Given the description of an element on the screen output the (x, y) to click on. 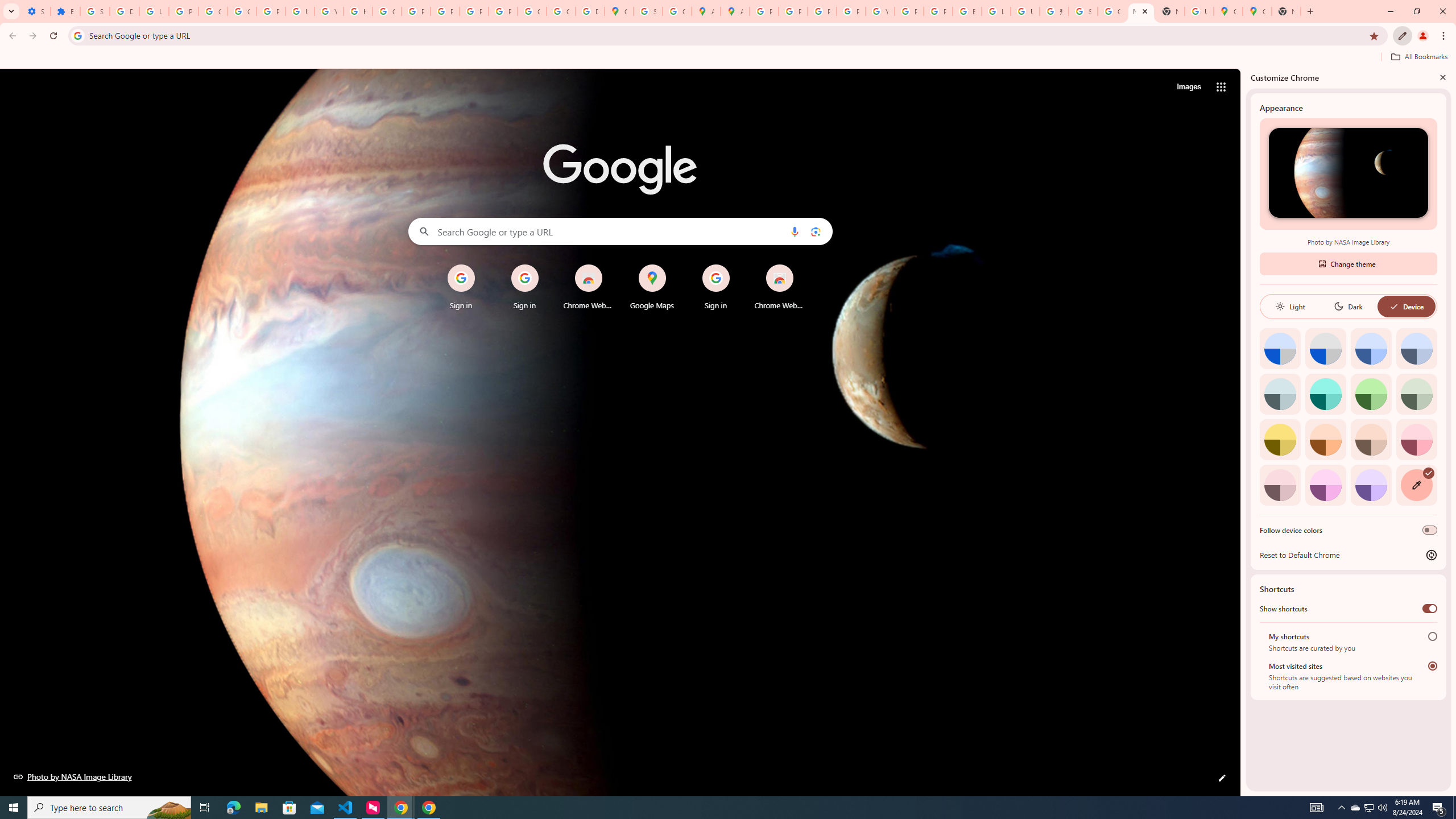
Use Google Maps in Space - Google Maps Help (1198, 11)
Photo by NASA Image Library (72, 776)
Grey default color (1325, 348)
AutomationID: baseSvg (1394, 306)
Settings - On startup (35, 11)
Remove (801, 265)
Device (1406, 305)
AutomationID: svg (1428, 472)
Rose (1416, 439)
Google Maps (1227, 11)
